Given the description of an element on the screen output the (x, y) to click on. 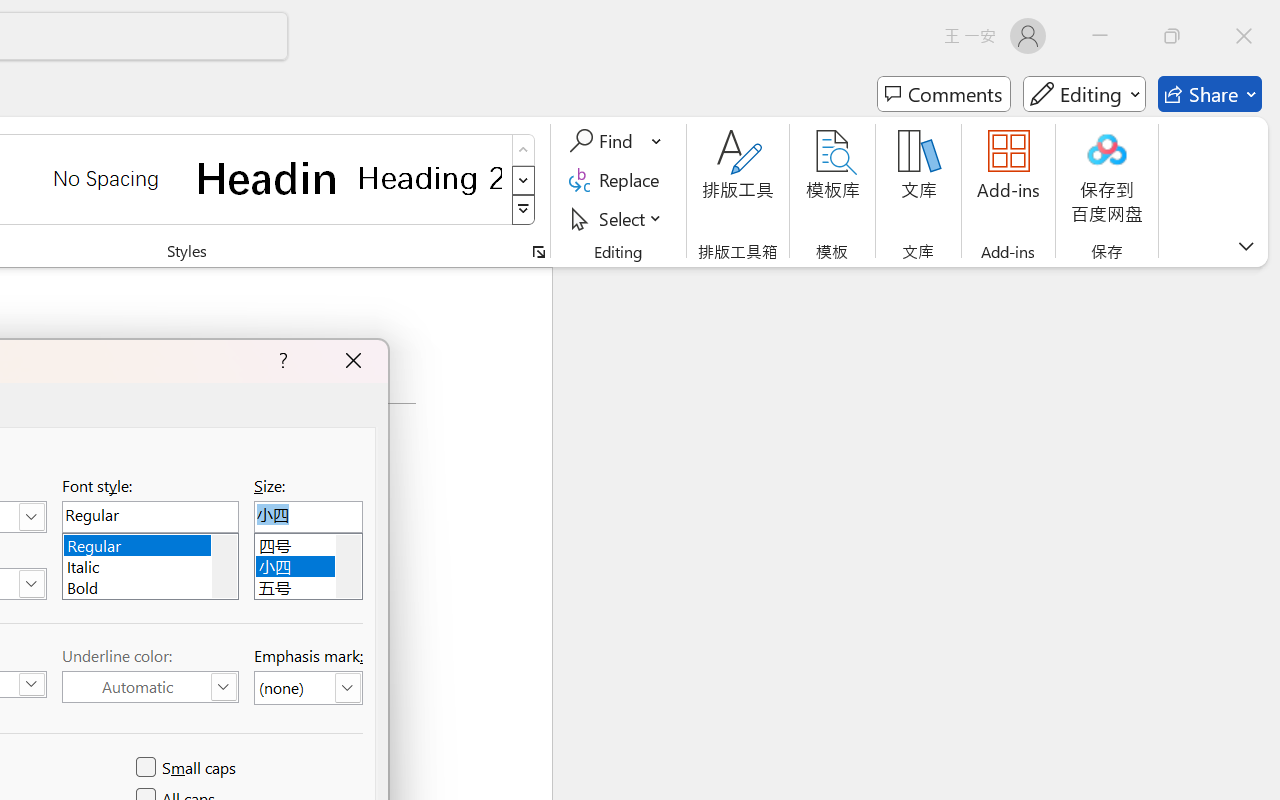
Emphasis mark: (308, 687)
Replace... (617, 179)
Regular (150, 542)
Row up (523, 150)
Styles (523, 209)
